Given the description of an element on the screen output the (x, y) to click on. 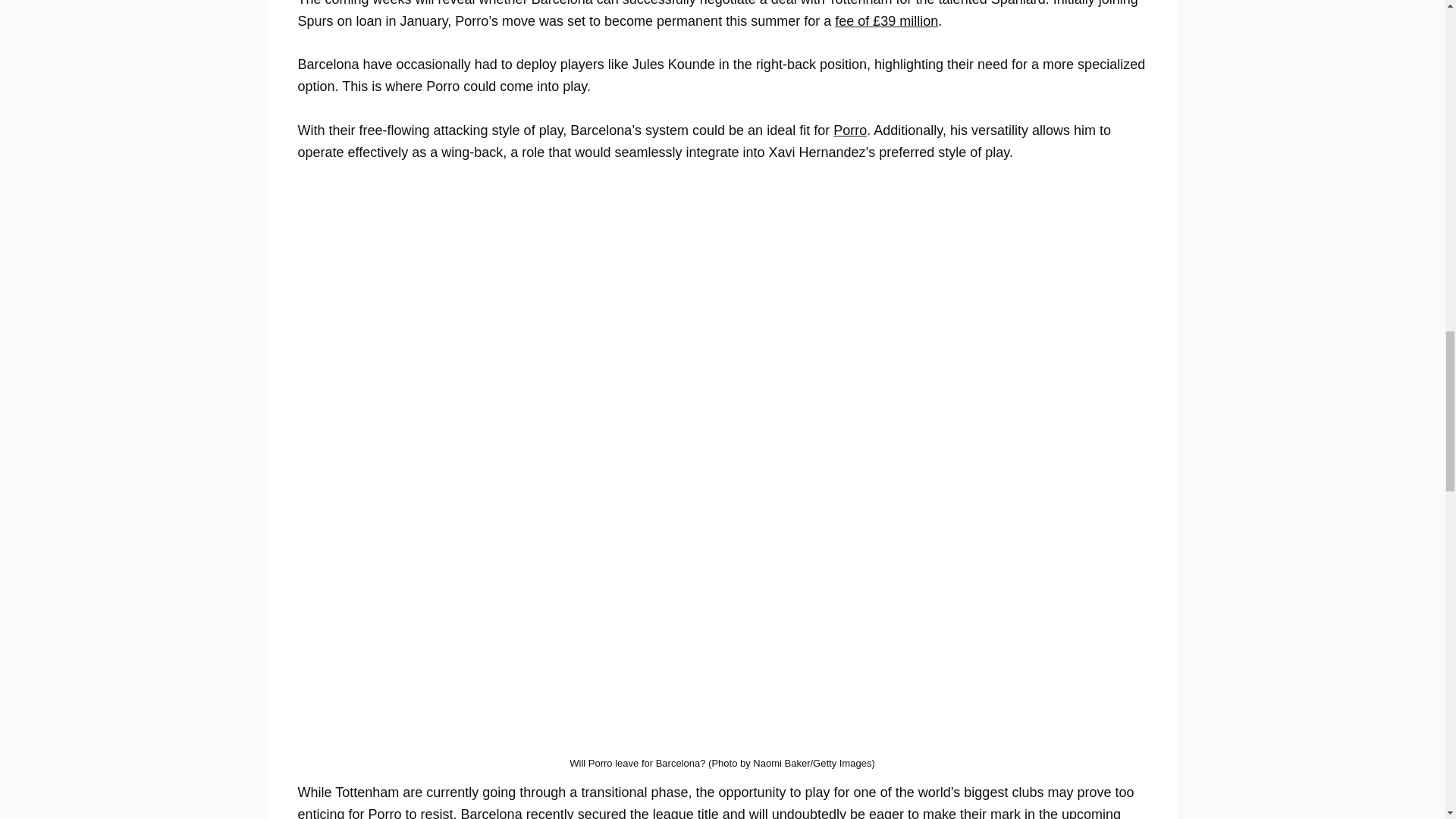
Porro (849, 130)
